Given the description of an element on the screen output the (x, y) to click on. 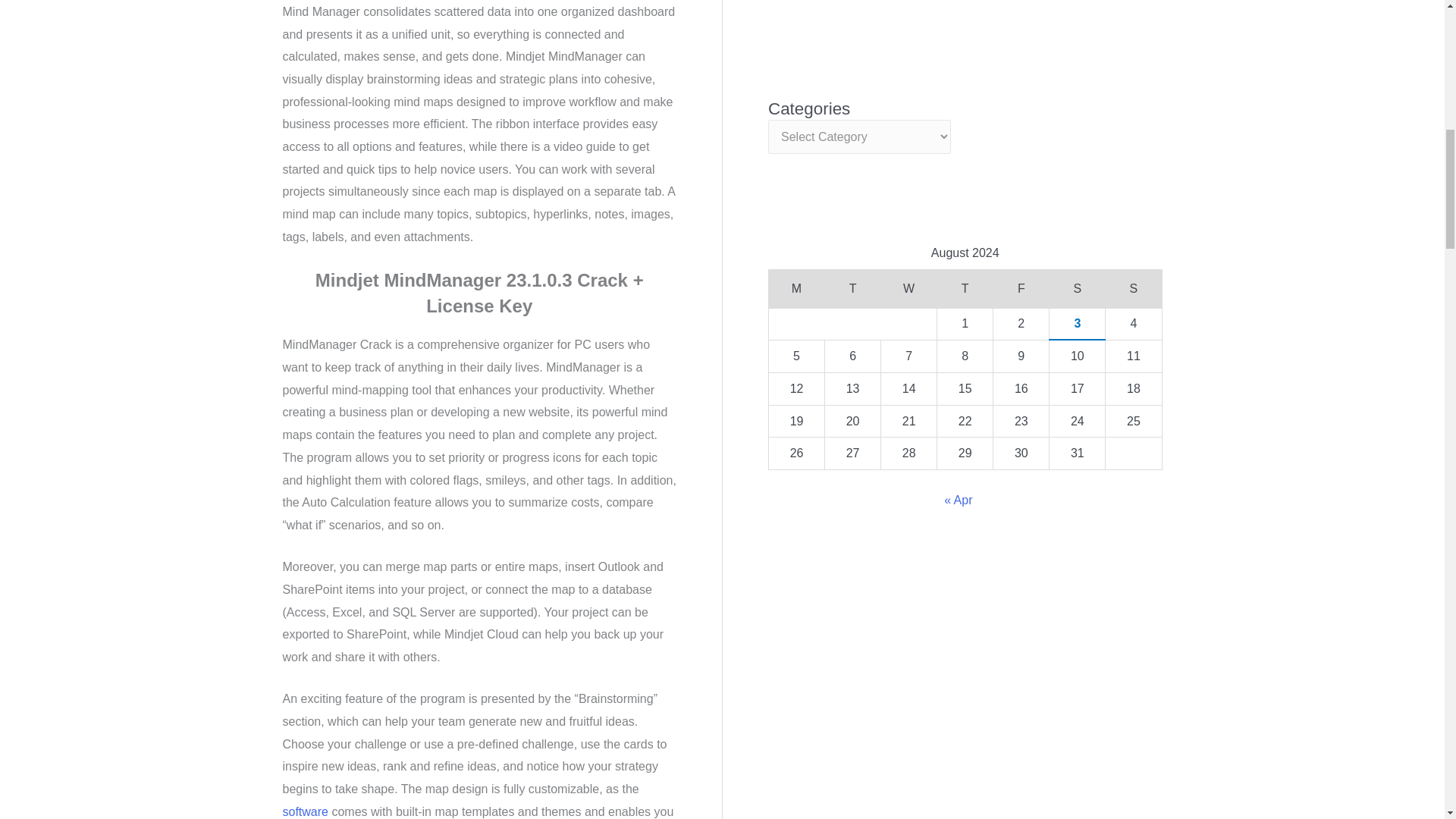
software (304, 811)
